Given the description of an element on the screen output the (x, y) to click on. 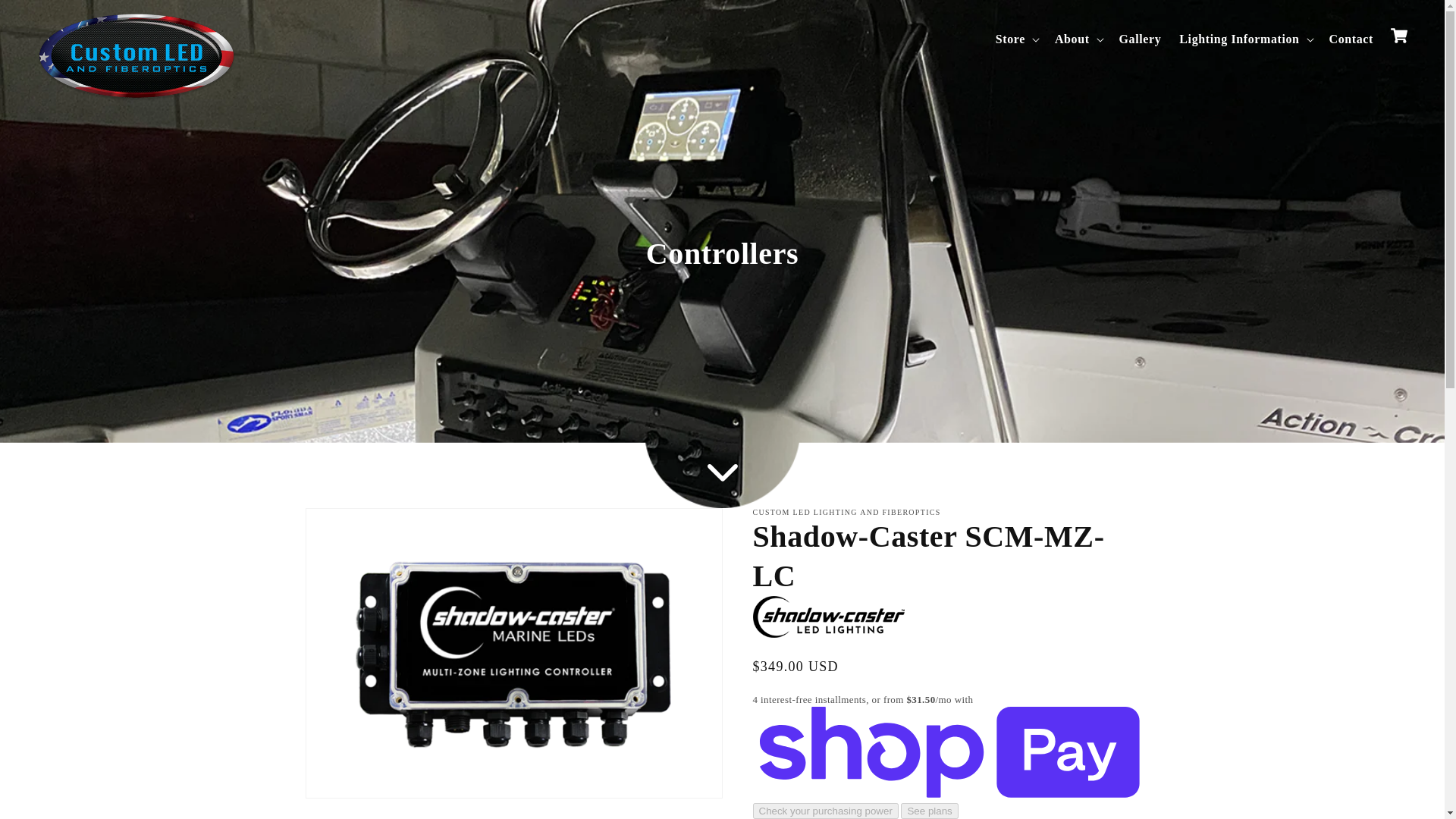
Cart (1398, 35)
Skip to content (45, 17)
Store (1010, 38)
About (1071, 38)
